Given the description of an element on the screen output the (x, y) to click on. 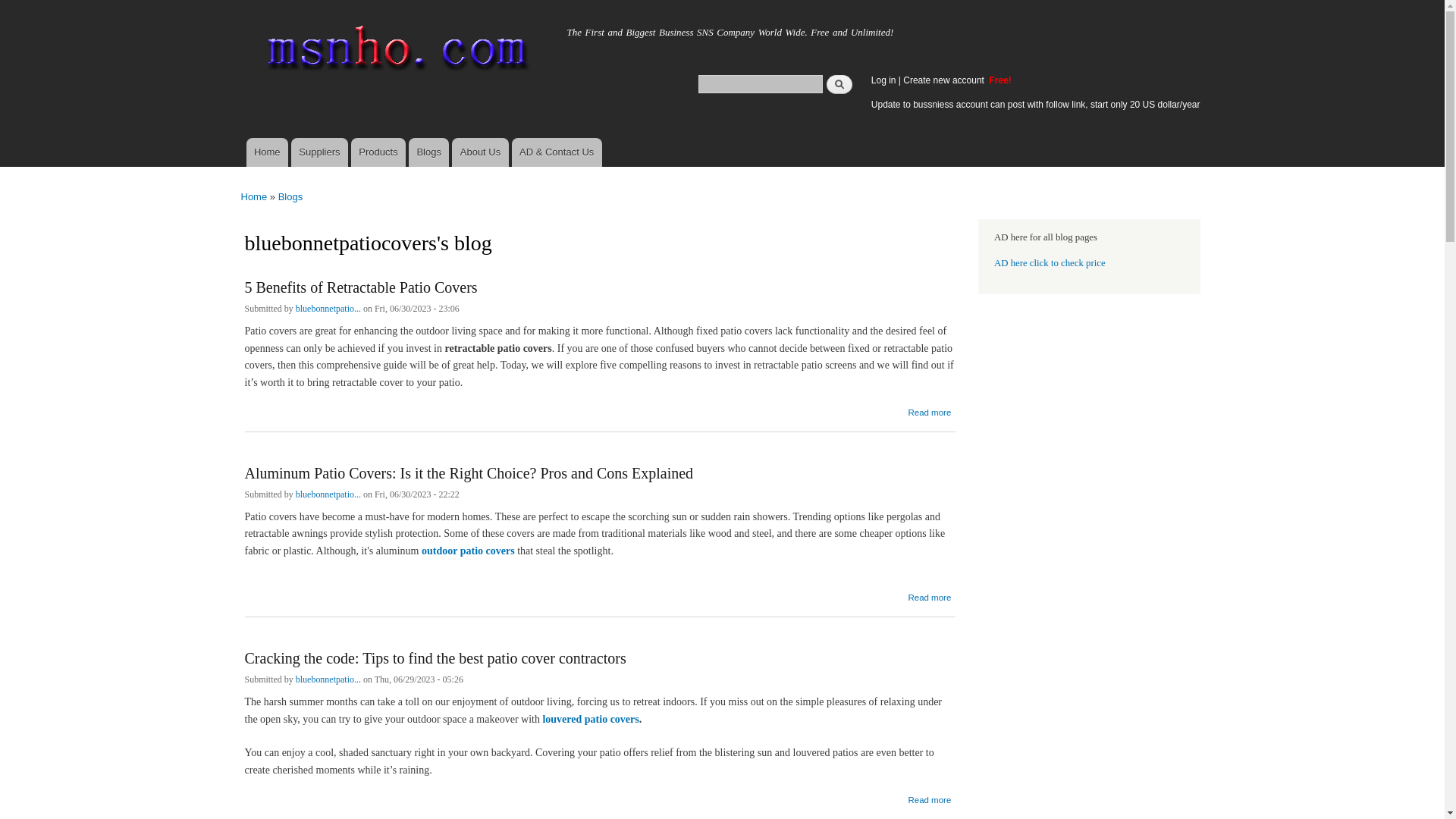
Products,if need post product, contact to our AD department (378, 152)
About Us (479, 152)
Search (839, 83)
bluebonnetpatio... (328, 681)
Skip to main content (690, 1)
View user profile. (328, 310)
bluebonnetpatio... (328, 496)
outdoor patio covers (468, 550)
Home (266, 152)
Home (282, 28)
View user profile. (328, 681)
Products (378, 152)
louvered patio covers (590, 718)
